Given the description of an element on the screen output the (x, y) to click on. 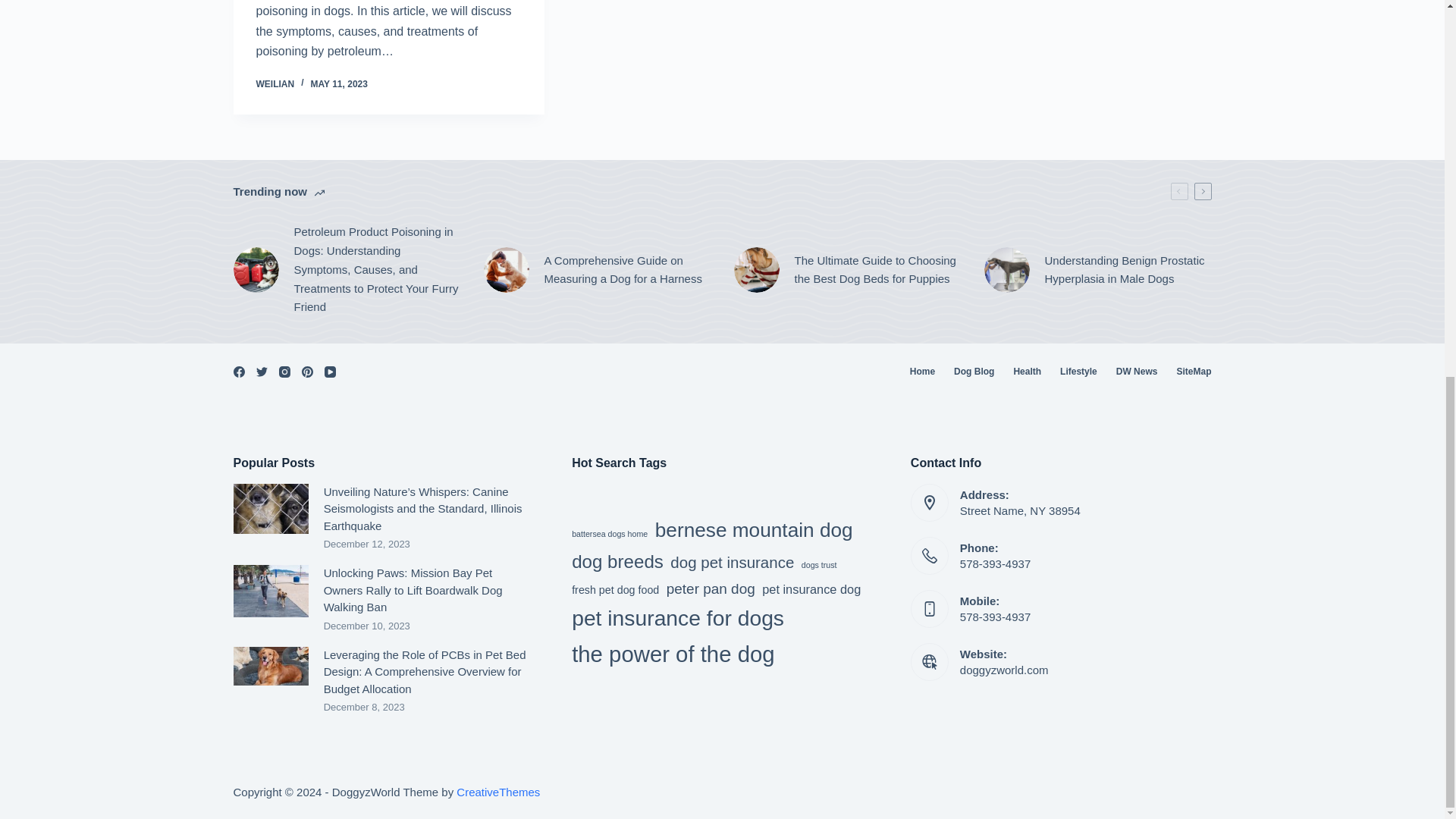
Posts by WeiLian (275, 83)
